Given the description of an element on the screen output the (x, y) to click on. 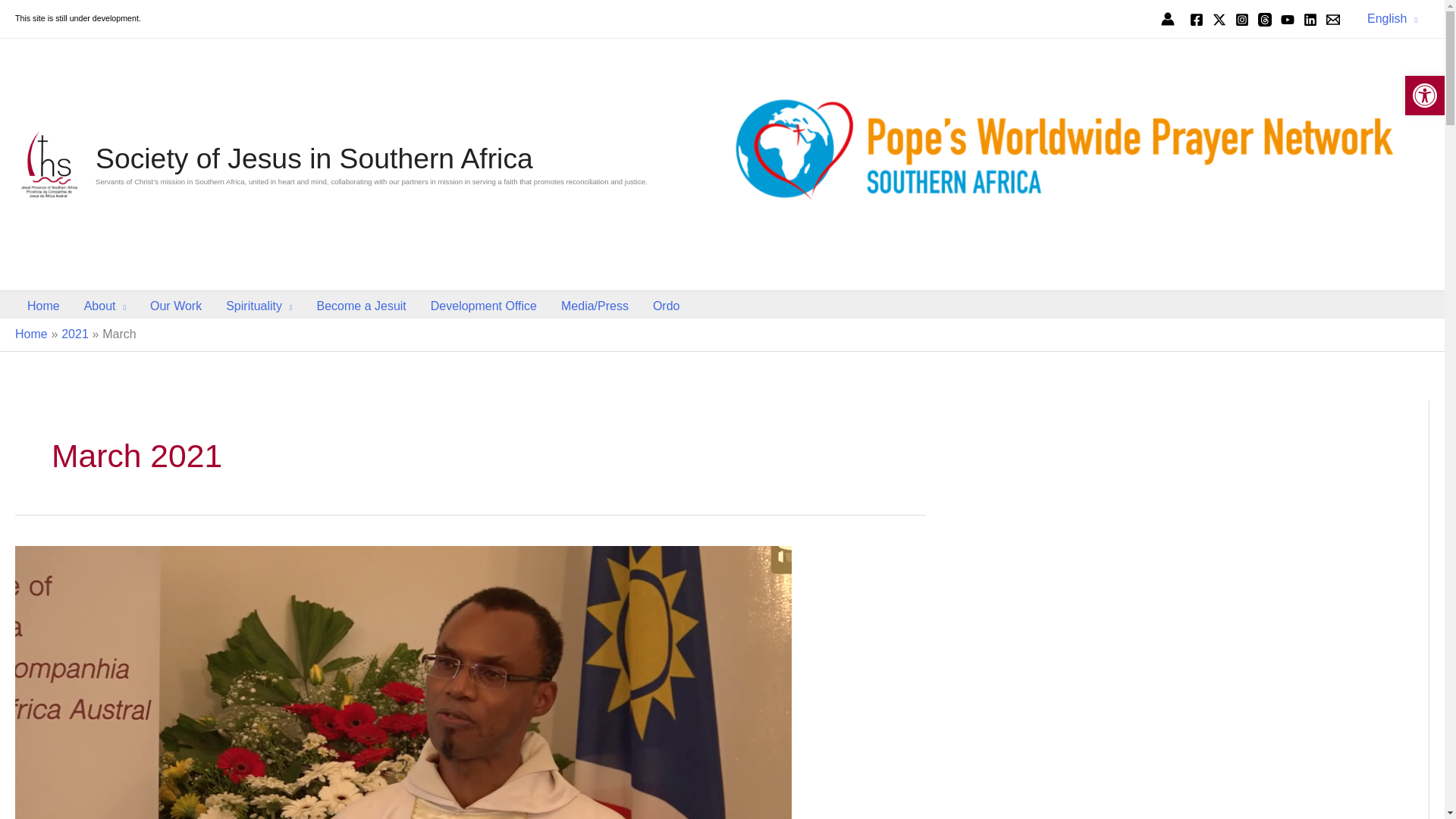
About (104, 305)
Our Work (176, 305)
Development Office (483, 305)
Spirituality (259, 305)
Home (42, 305)
Accessibility Tools (1424, 95)
Become a Jesuit (361, 305)
English (1392, 18)
Society of Jesus in Southern Africa (314, 158)
English (1392, 18)
